Given the description of an element on the screen output the (x, y) to click on. 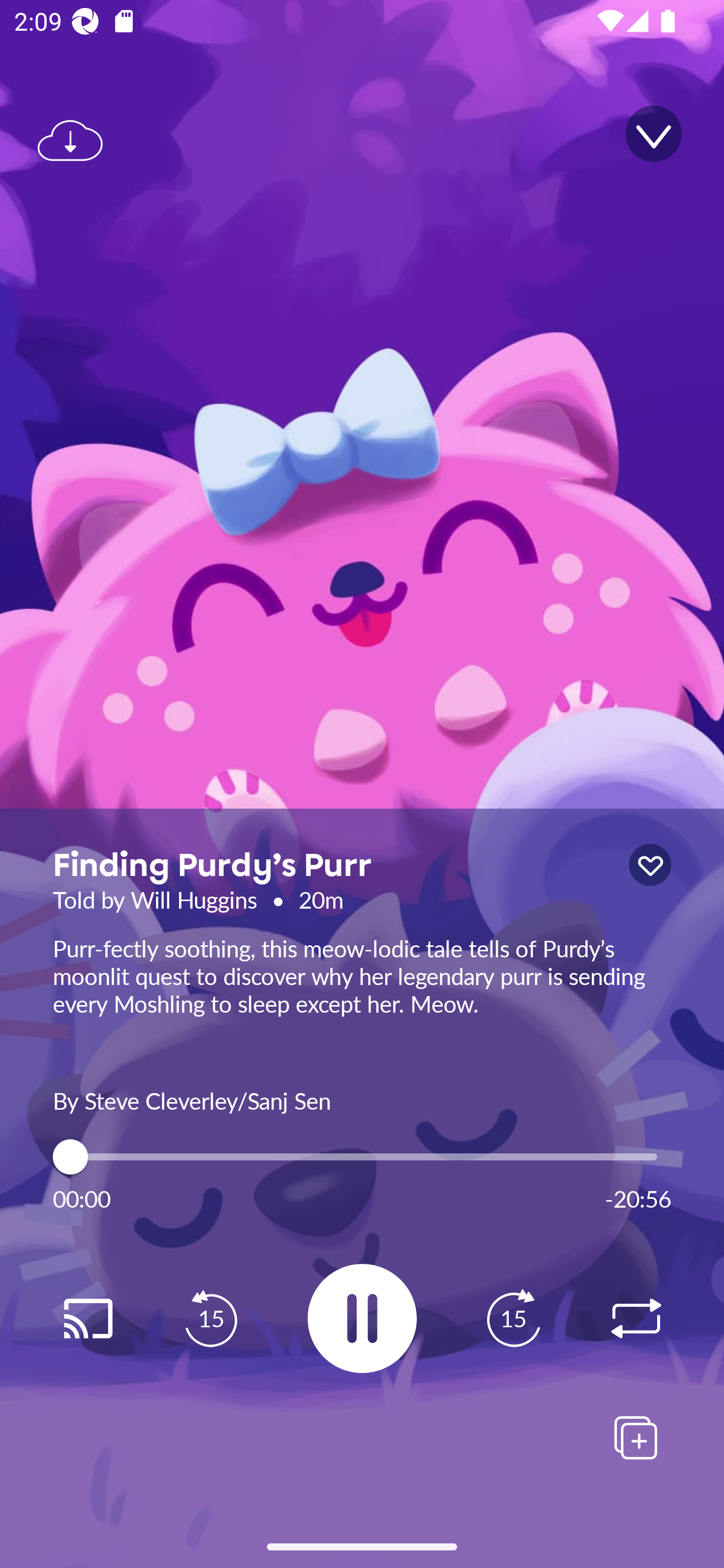
lock icon (650, 865)
By Steve Cleverley/Sanj Sen (361, 1098)
1.0342084E-5 Pause (361, 1317)
Replay (87, 1318)
Replay 15 (210, 1318)
Replay 15 (513, 1318)
Replay (635, 1318)
Add To Playlists (635, 1437)
